Given the description of an element on the screen output the (x, y) to click on. 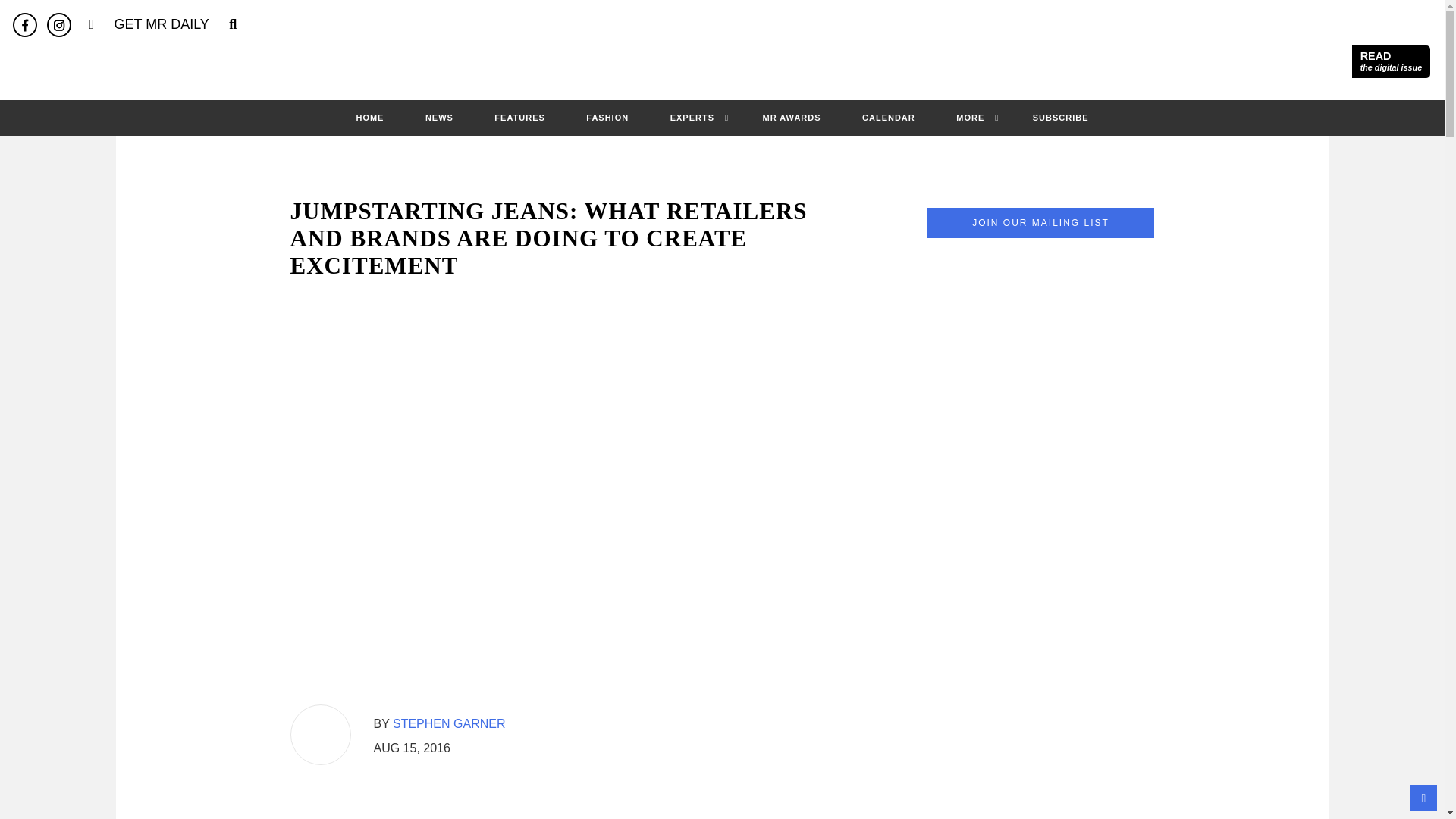
FEATURES (518, 117)
CALENDAR (888, 117)
FASHION (607, 117)
NEWS (439, 117)
SUBSCRIBE (1060, 117)
MR AWARDS (791, 117)
MORE (970, 117)
EXPERTS (692, 117)
STEPHEN GARNER (449, 723)
HOME (369, 117)
MR Magazine (721, 62)
GET MR DAILY (1390, 61)
